Given the description of an element on the screen output the (x, y) to click on. 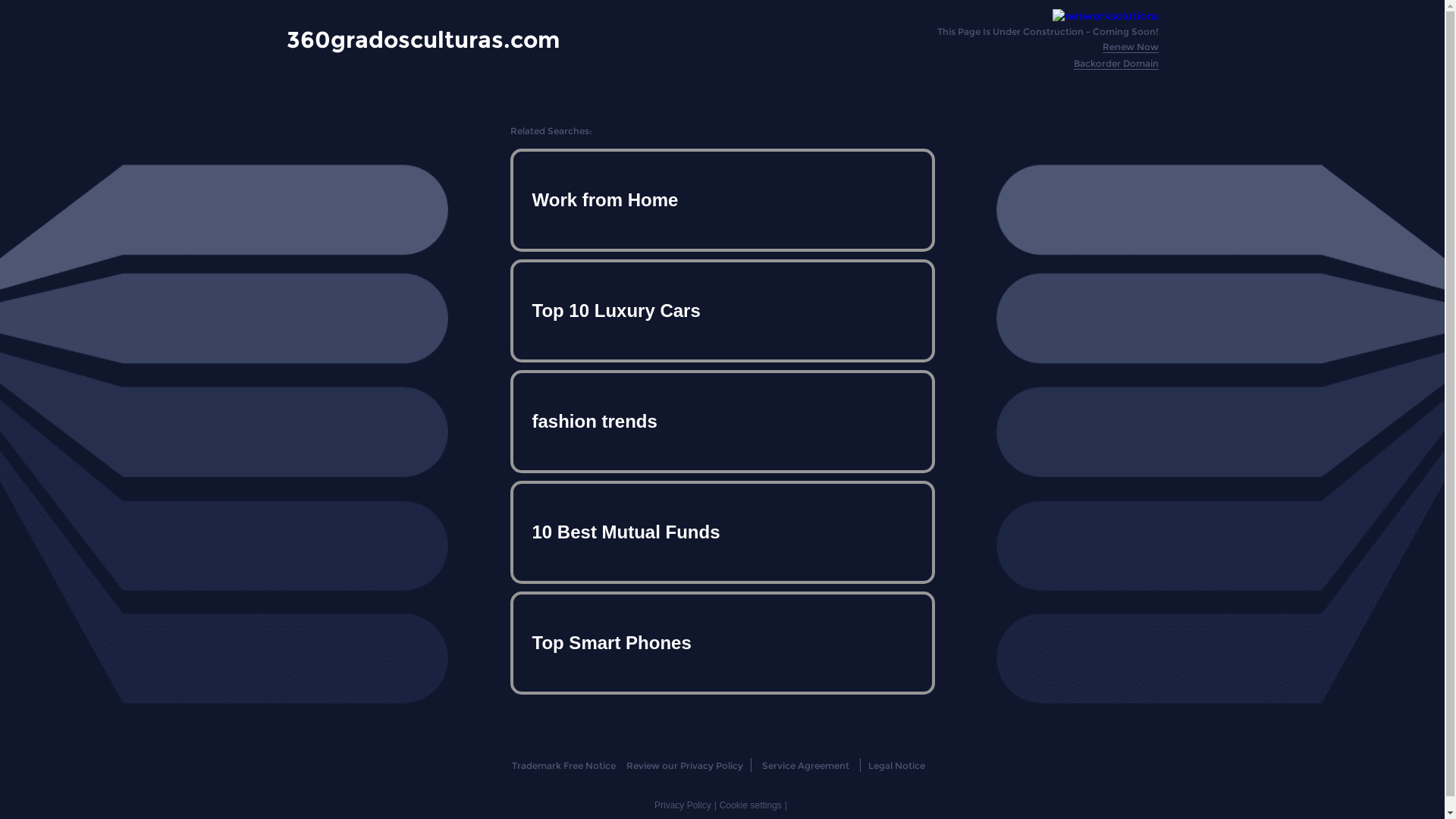
Top 10 Luxury Cars Element type: text (721, 310)
Work from Home Element type: text (721, 199)
Cookie settings Element type: text (750, 805)
Service Agreement Element type: text (805, 765)
360gradosculturas.com Element type: text (422, 39)
10 Best Mutual Funds Element type: text (721, 531)
Privacy Policy Element type: text (682, 805)
Top Smart Phones Element type: text (721, 642)
Legal Notice Element type: text (896, 765)
Renew Now Element type: text (1130, 46)
Trademark Free Notice Element type: text (563, 765)
fashion trends Element type: text (721, 421)
Backorder Domain Element type: text (1115, 63)
Review our Privacy Policy Element type: text (684, 765)
